Given the description of an element on the screen output the (x, y) to click on. 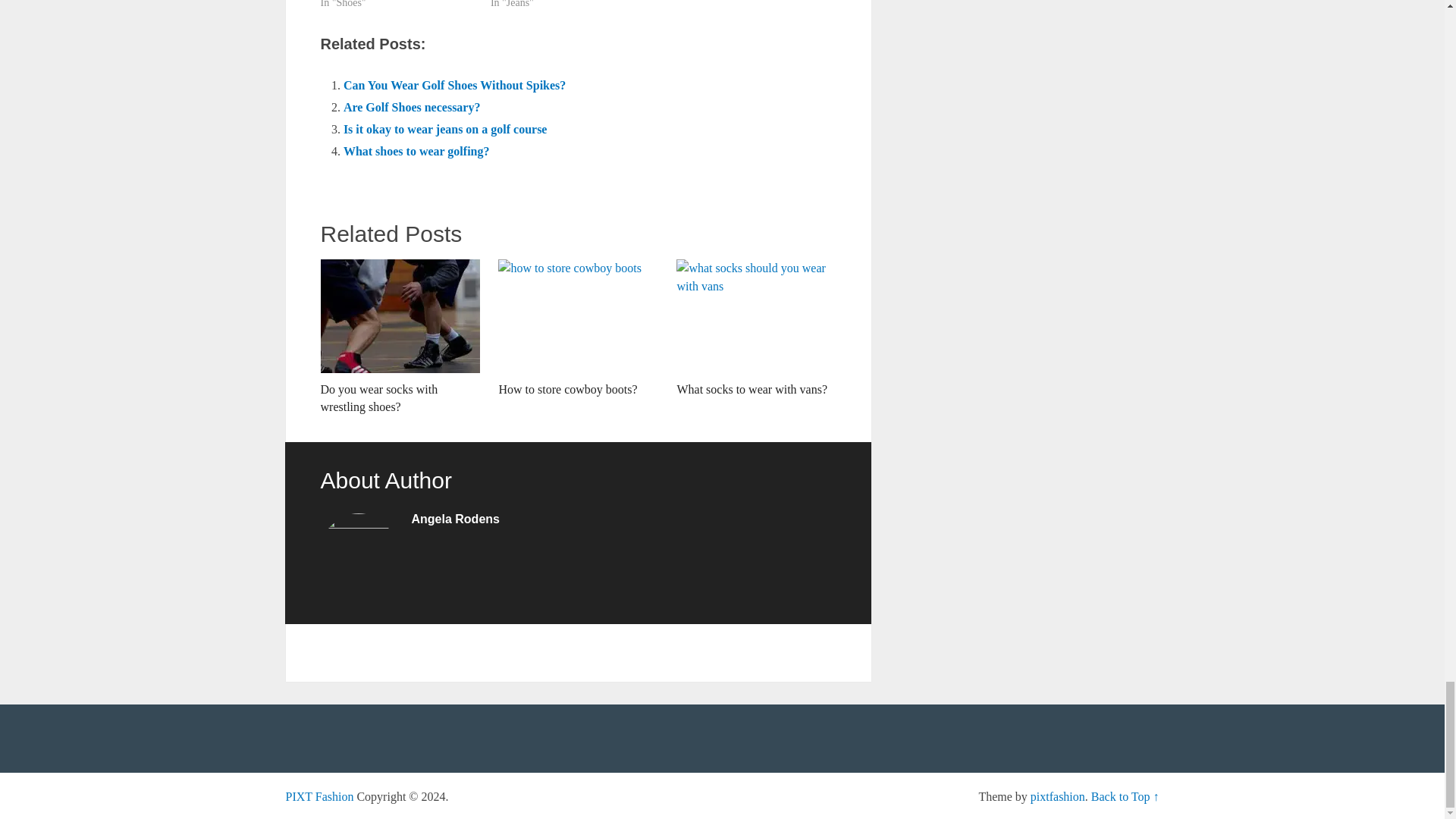
What socks to wear with vans? (756, 328)
Do you wear socks with wrestling shoes? (399, 337)
What shoes to wear golfing? (416, 151)
Are Golf Shoes necessary? (411, 106)
What socks to wear with vans? (756, 328)
Are Golf Shoes necessary? (411, 106)
Can You Wear Golf Shoes Without Spikes? (454, 84)
Is it okay to wear jeans on a golf course (445, 128)
Is it okay to wear jeans on a golf course (445, 128)
What shoes to wear golfing? (416, 151)
